Given the description of an element on the screen output the (x, y) to click on. 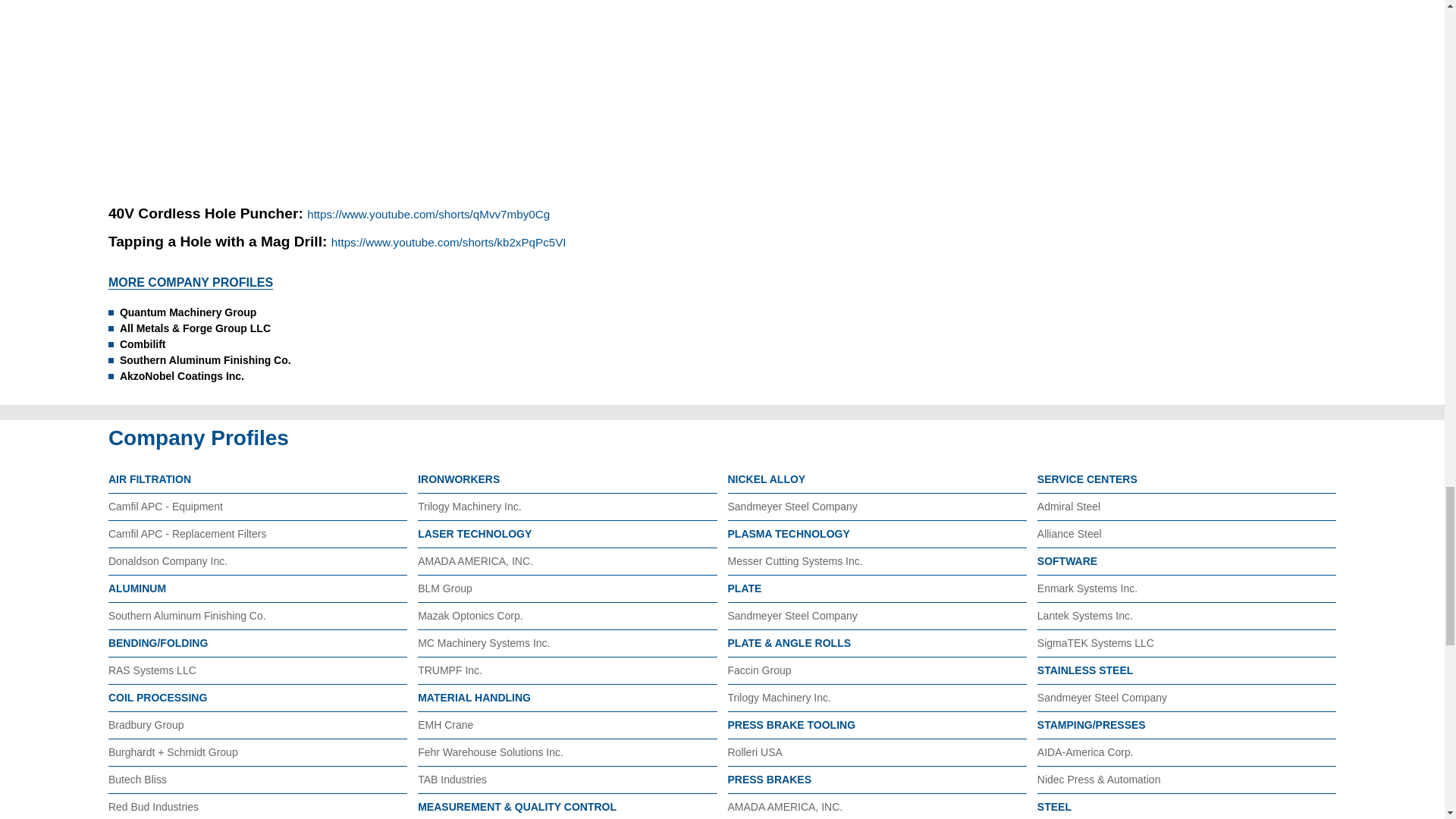
Southern Aluminum Finishing Co. (253, 360)
Camfil APC - Equipment (164, 506)
Camfil APC - Replacement Filters (186, 533)
Quantum Machinery Group (253, 312)
AkzoNobel Coatings Inc. (253, 376)
YouTube video player (319, 85)
Combilift (253, 344)
